Given the description of an element on the screen output the (x, y) to click on. 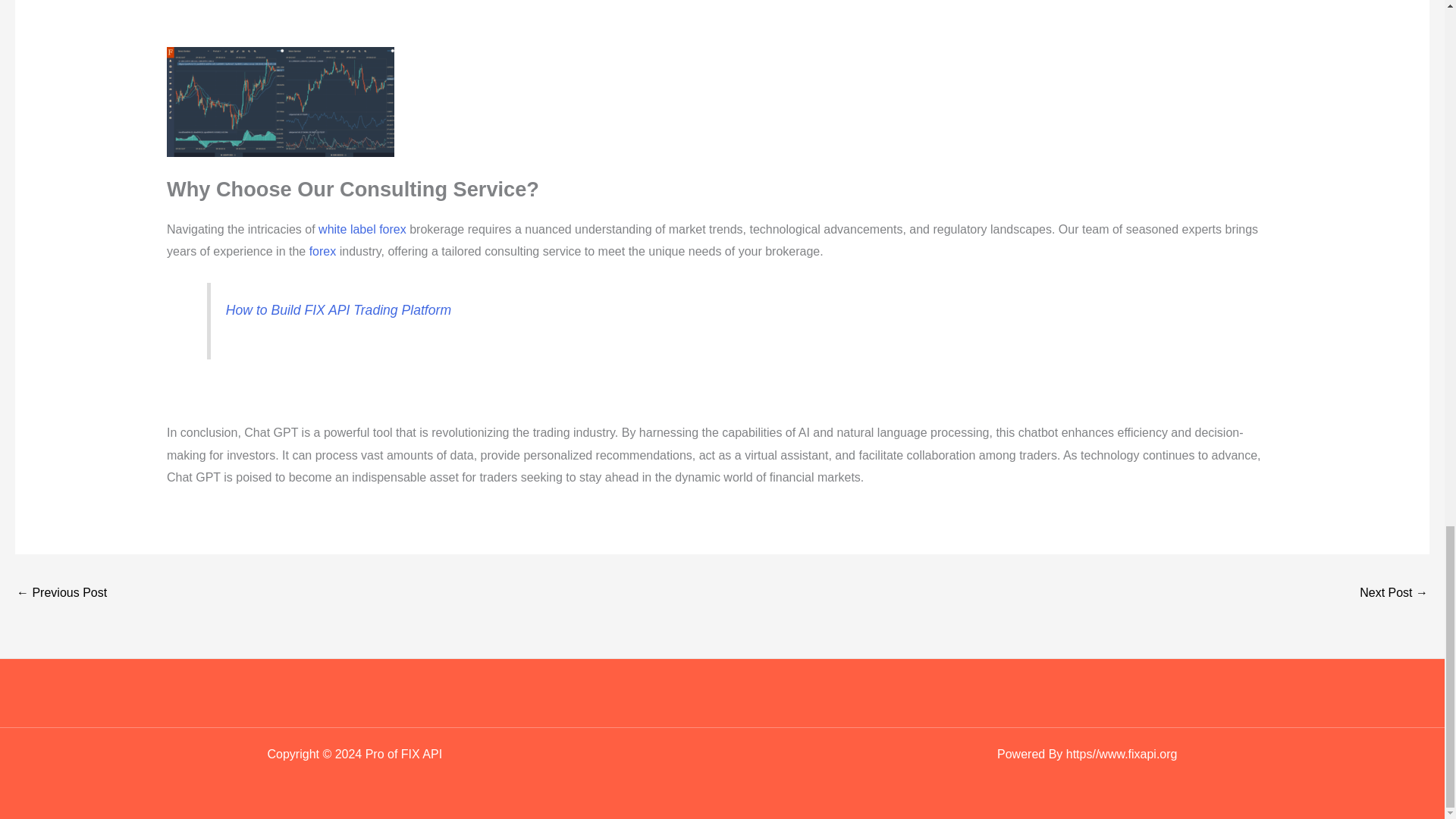
forex (322, 250)
Revolutionizing Financial Markets: OpenAI Trading Impact (1393, 593)
white label (346, 228)
forex (392, 228)
